Given the description of an element on the screen output the (x, y) to click on. 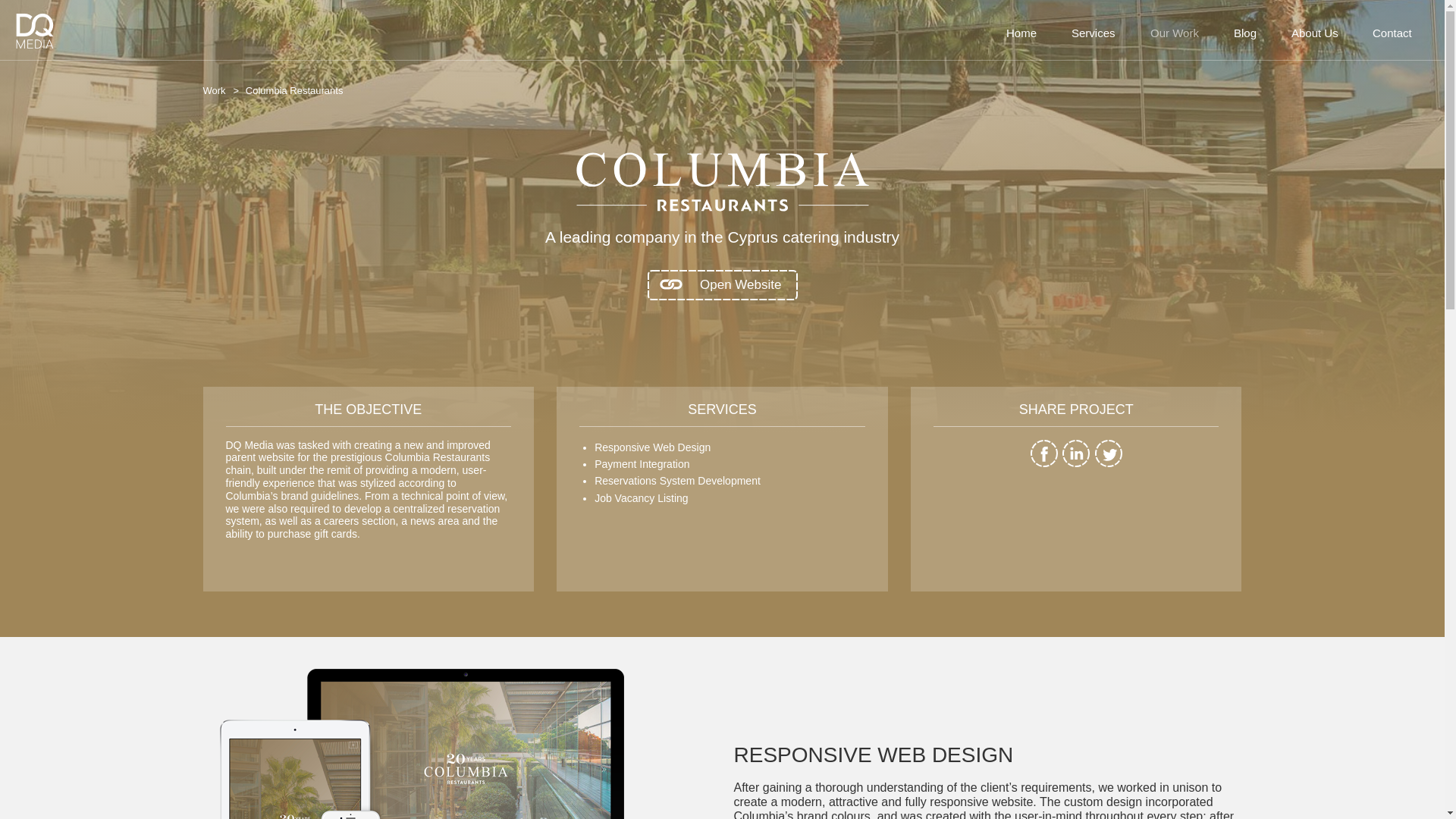
Blog (1245, 33)
Work (223, 90)
Share to Twitter (1108, 463)
Share to Linkedin (1075, 463)
Services (1092, 33)
Open Website (721, 285)
Home (1021, 33)
Open Website (721, 283)
About Us (1314, 33)
Share to Facebook (1043, 463)
Contact (1392, 33)
Our Work (1173, 33)
